Given the description of an element on the screen output the (x, y) to click on. 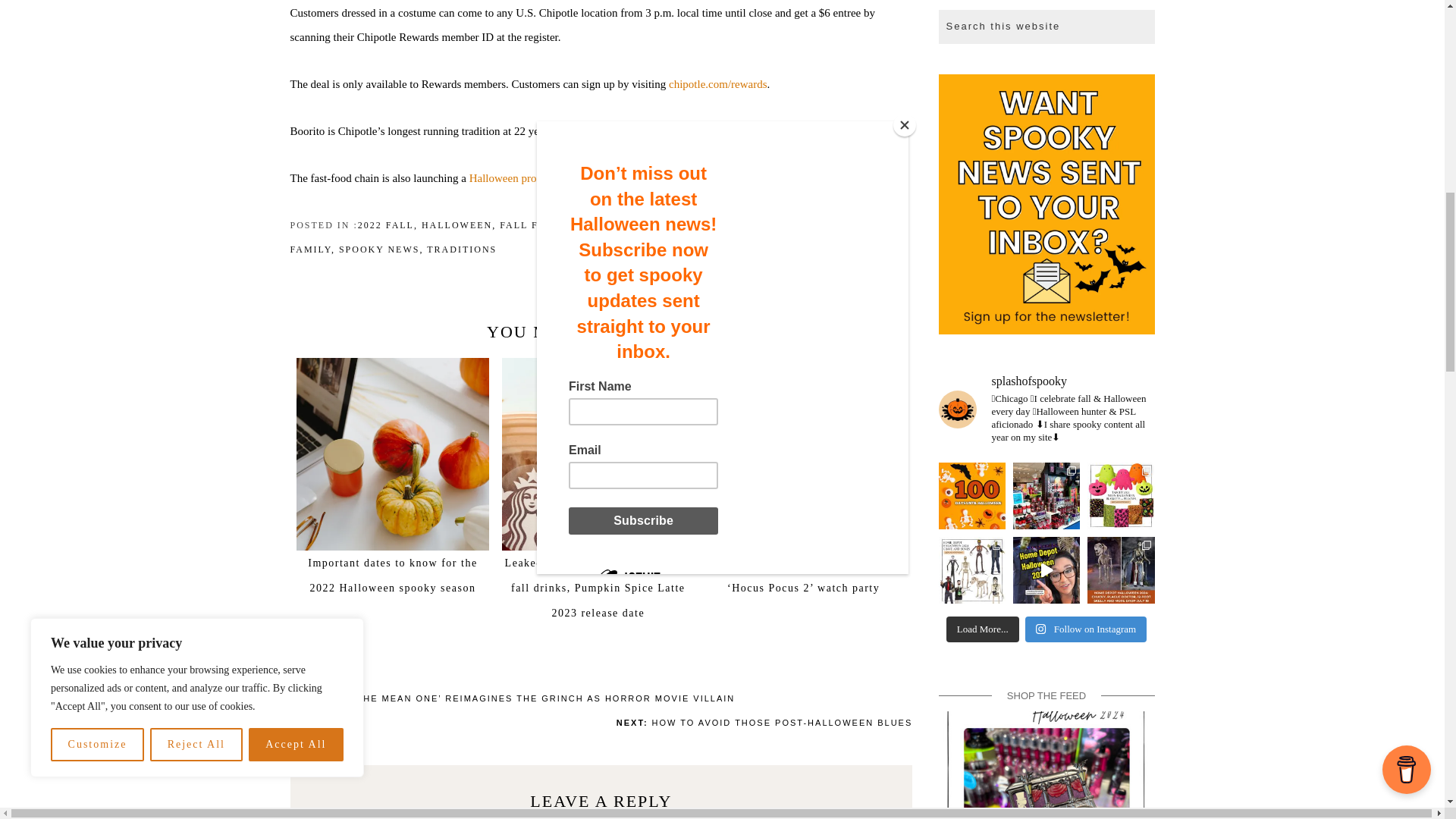
Halloween promotion (518, 177)
